Given the description of an element on the screen output the (x, y) to click on. 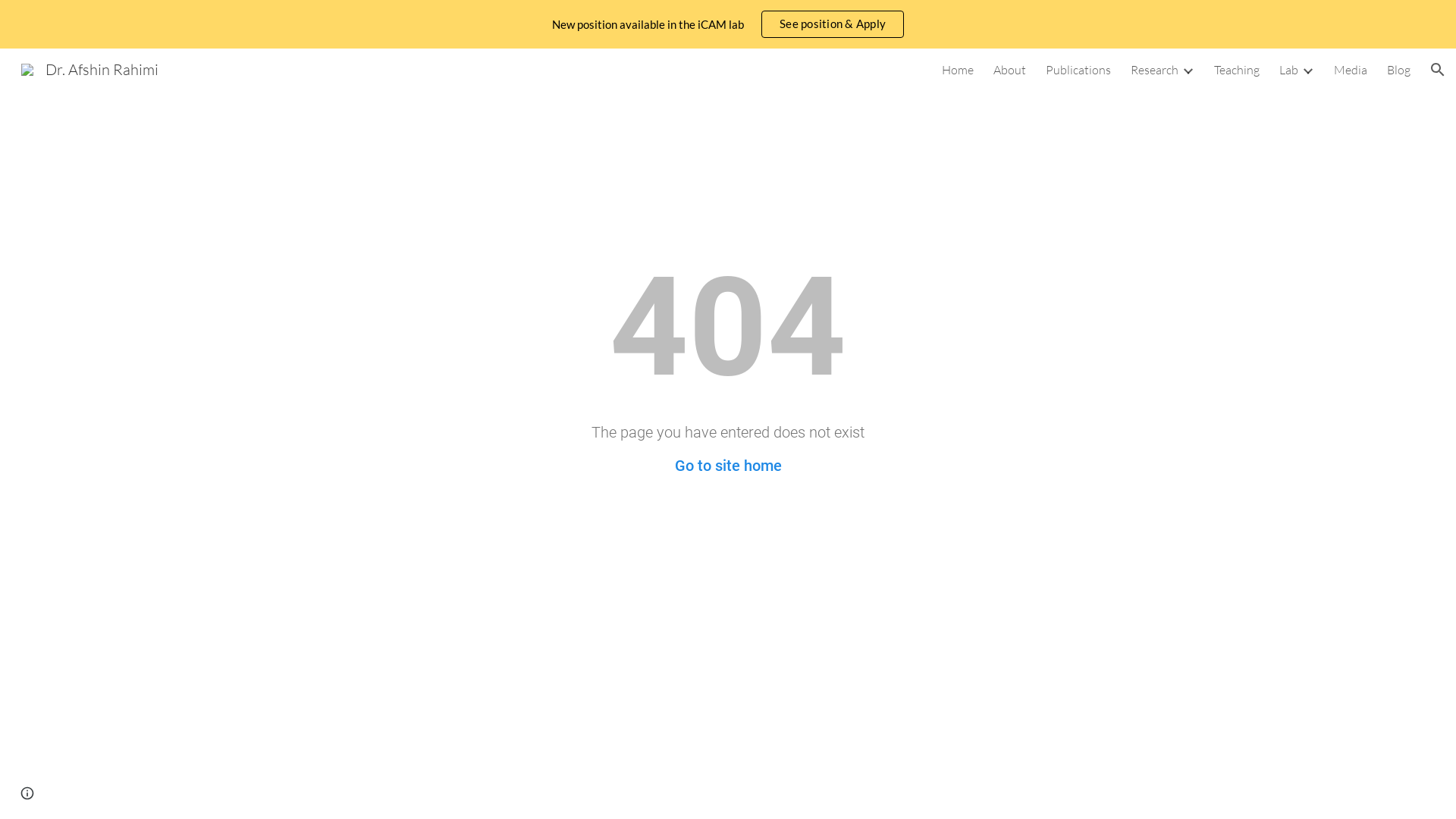
Research Element type: text (1154, 69)
Go to site home Element type: text (727, 465)
Home Element type: text (957, 69)
Expand/Collapse Element type: hover (1187, 69)
See position & Apply Element type: text (832, 24)
Teaching Element type: text (1236, 69)
Media Element type: text (1350, 69)
About Element type: text (1009, 69)
Expand/Collapse Element type: hover (1307, 69)
Lab Element type: text (1288, 69)
Blog Element type: text (1398, 69)
Publications Element type: text (1077, 69)
Dr. Afshin Rahimi Element type: text (89, 67)
